Given the description of an element on the screen output the (x, y) to click on. 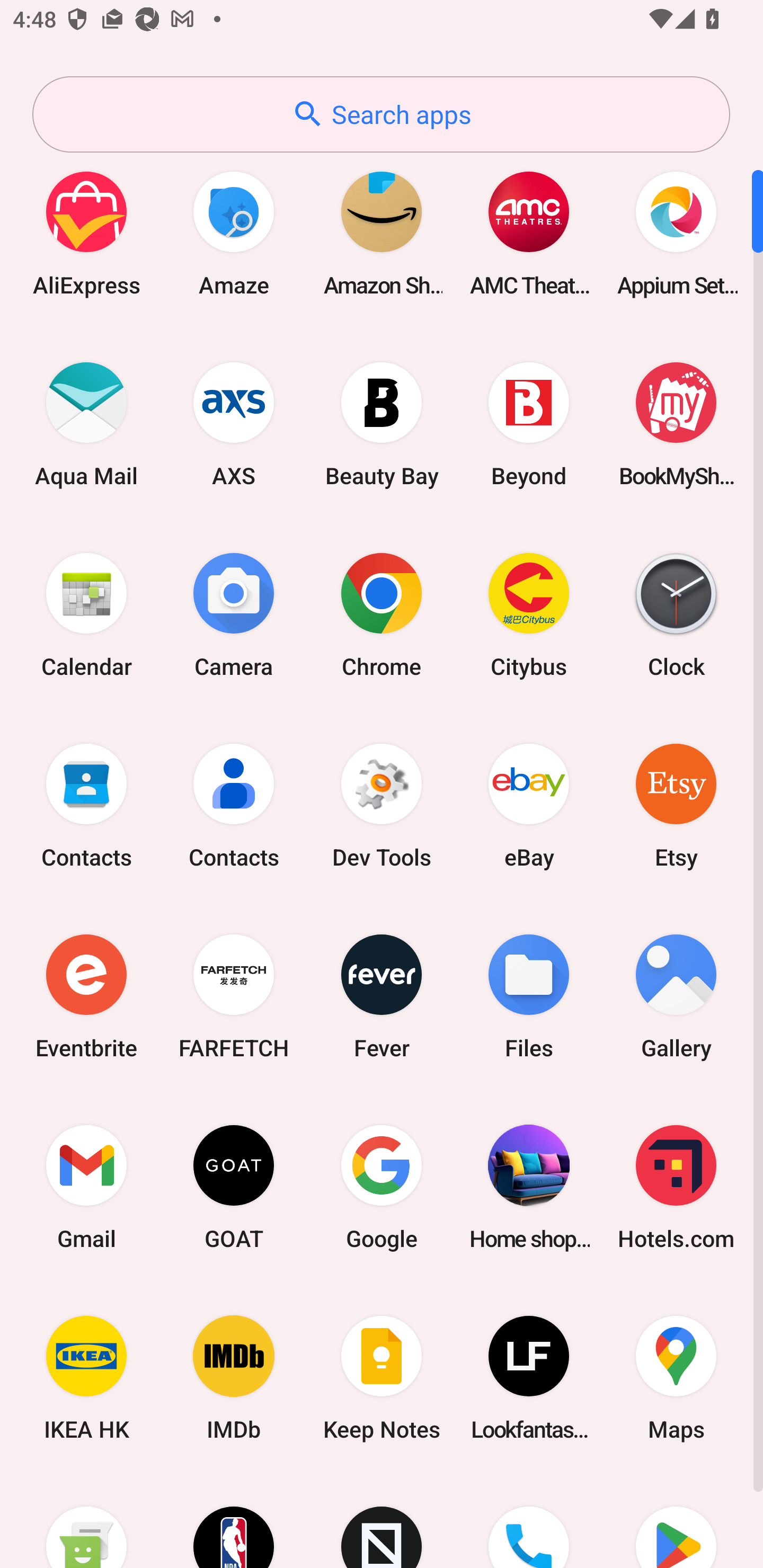
  Search apps (381, 114)
AliExpress (86, 233)
Amaze (233, 233)
Amazon Shopping (381, 233)
AMC Theatres (528, 233)
Appium Settings (676, 233)
Aqua Mail (86, 424)
AXS (233, 424)
Beauty Bay (381, 424)
Beyond (528, 424)
BookMyShow (676, 424)
Calendar (86, 614)
Camera (233, 614)
Chrome (381, 614)
Citybus (528, 614)
Clock (676, 614)
Contacts (86, 805)
Contacts (233, 805)
Dev Tools (381, 805)
eBay (528, 805)
Etsy (676, 805)
Eventbrite (86, 996)
FARFETCH (233, 996)
Fever (381, 996)
Files (528, 996)
Gallery (676, 996)
Gmail (86, 1186)
GOAT (233, 1186)
Google (381, 1186)
Home shopping (528, 1186)
Hotels.com (676, 1186)
IKEA HK (86, 1377)
IMDb (233, 1377)
Keep Notes (381, 1377)
Lookfantastic (528, 1377)
Maps (676, 1377)
Messaging (86, 1520)
NBA (233, 1520)
Novelship (381, 1520)
Phone (528, 1520)
Play Store (676, 1520)
